Given the description of an element on the screen output the (x, y) to click on. 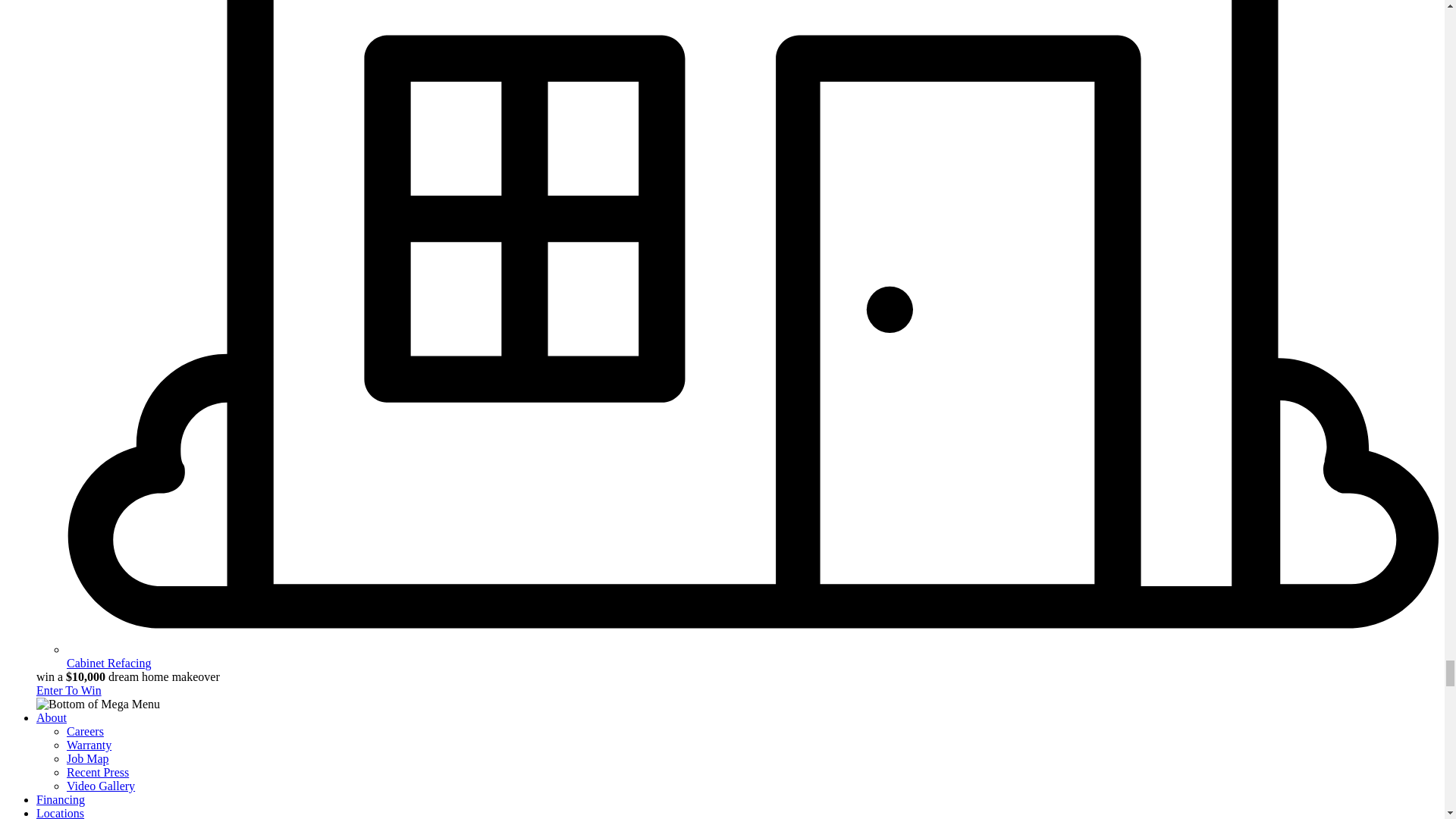
Locations (60, 812)
Job Map (87, 758)
Video Gallery (100, 785)
Warranty (89, 744)
Careers (84, 730)
About (51, 717)
Enter To Win (68, 689)
Recent Press (97, 771)
Financing (60, 799)
